Given the description of an element on the screen output the (x, y) to click on. 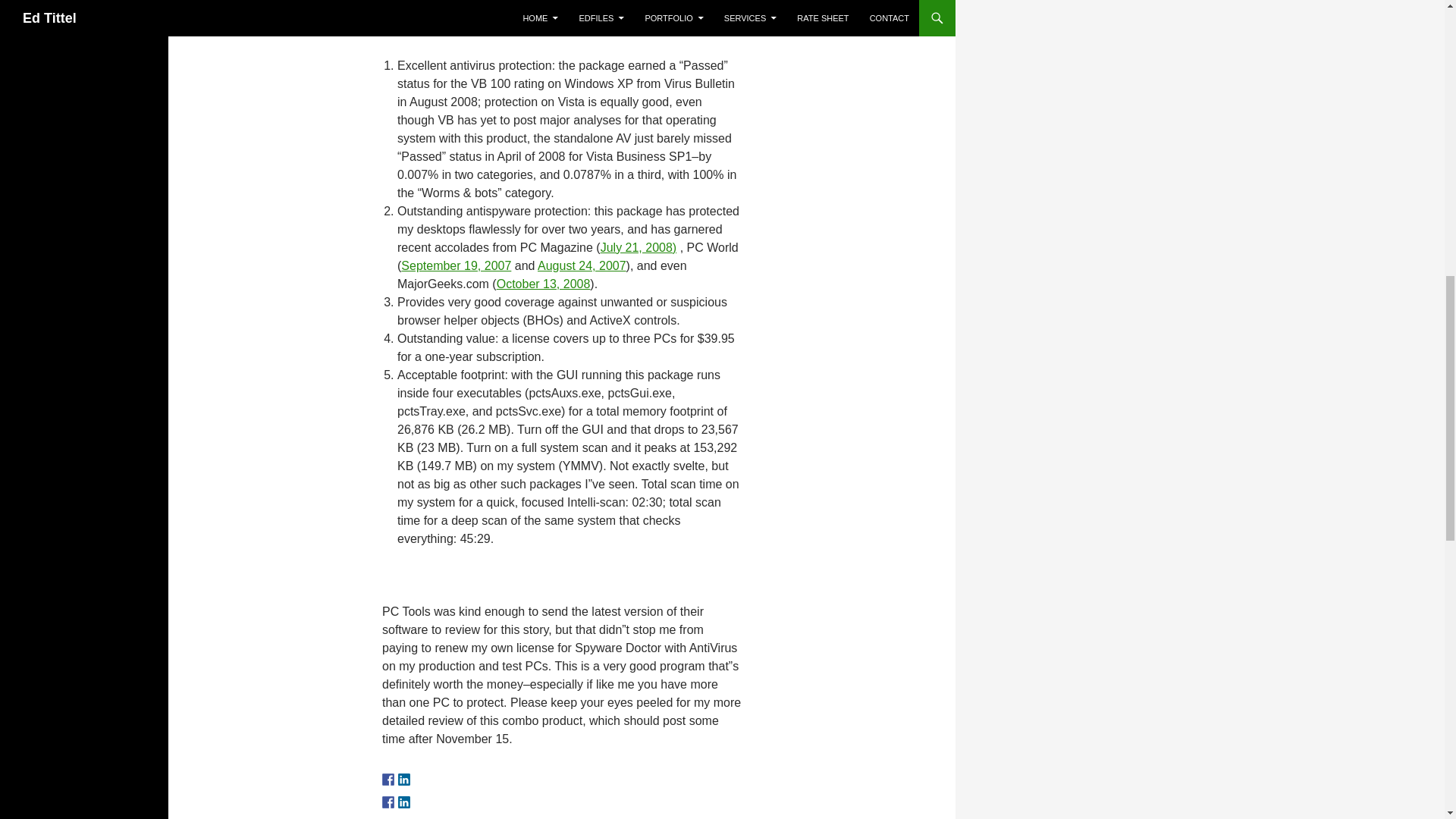
Find us on Linkedin (403, 779)
Share on Facebook (387, 802)
Follow us on Facebook (387, 779)
Share on Linkedin (403, 802)
